Given the description of an element on the screen output the (x, y) to click on. 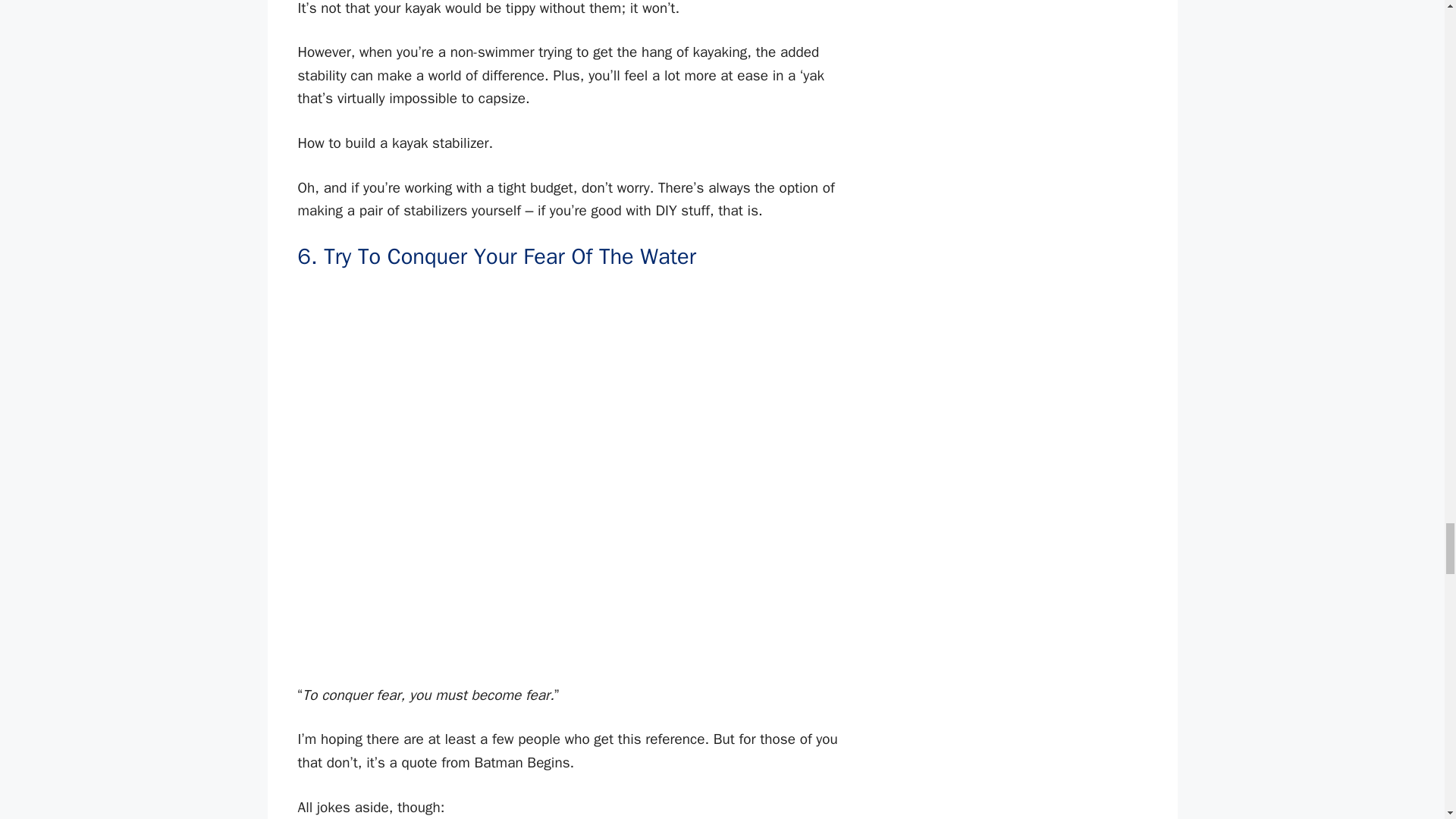
How to build a kayak stabilizer. (579, 142)
